Given the description of an element on the screen output the (x, y) to click on. 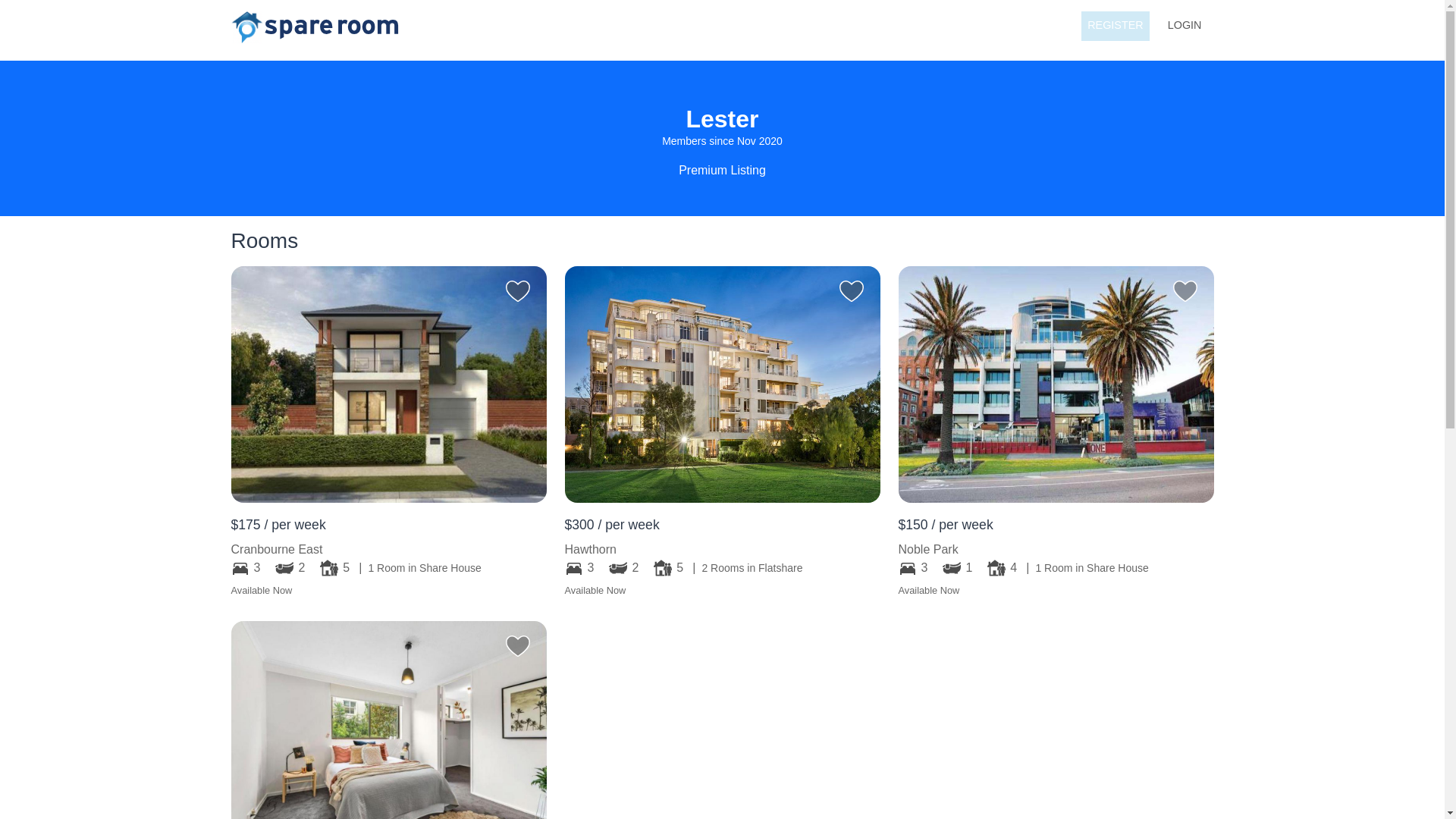
REGISTER Element type: text (1115, 25)
LOGIN Element type: text (1184, 25)
